Given the description of an element on the screen output the (x, y) to click on. 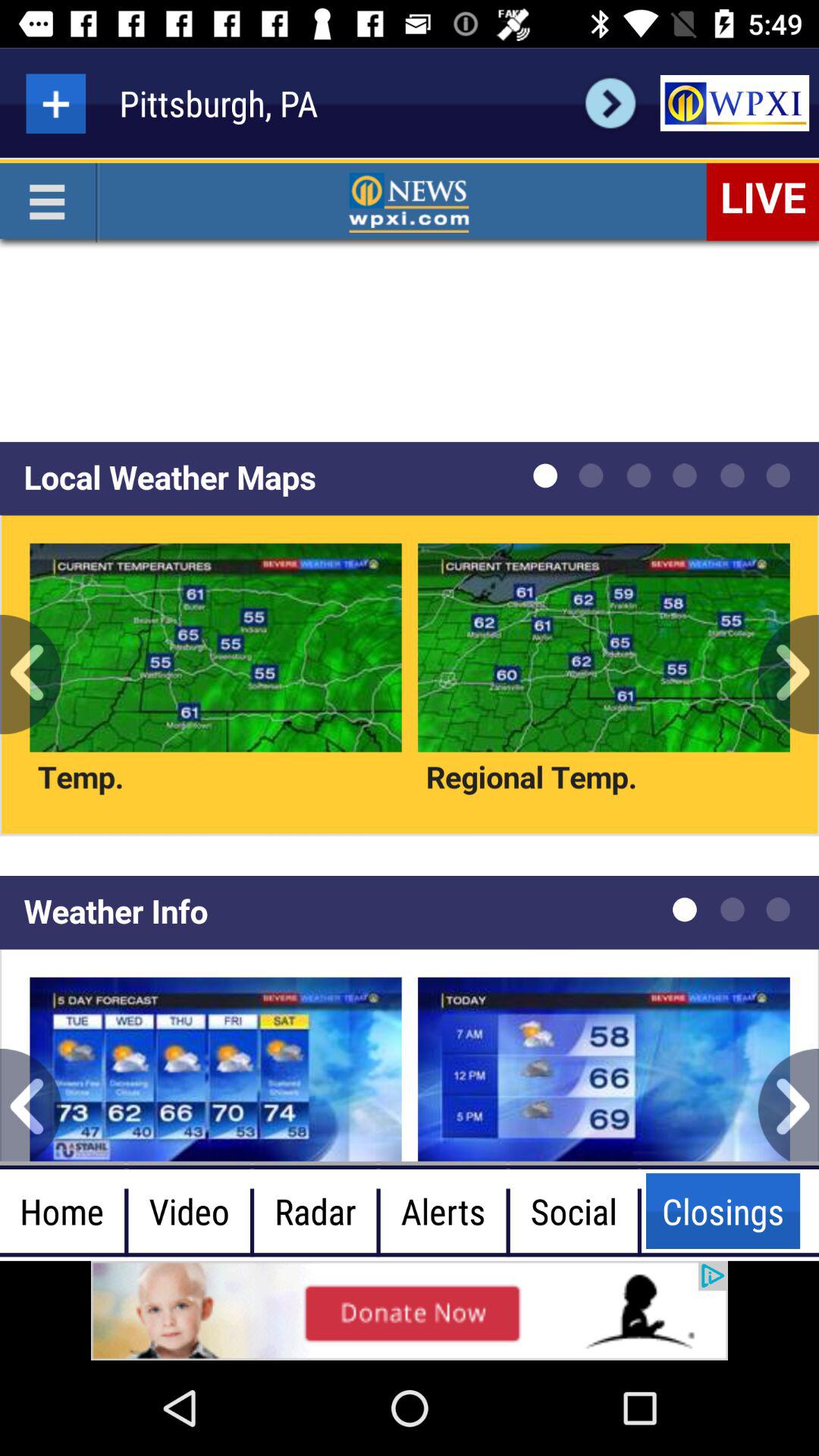
to add items (55, 103)
